Given the description of an element on the screen output the (x, y) to click on. 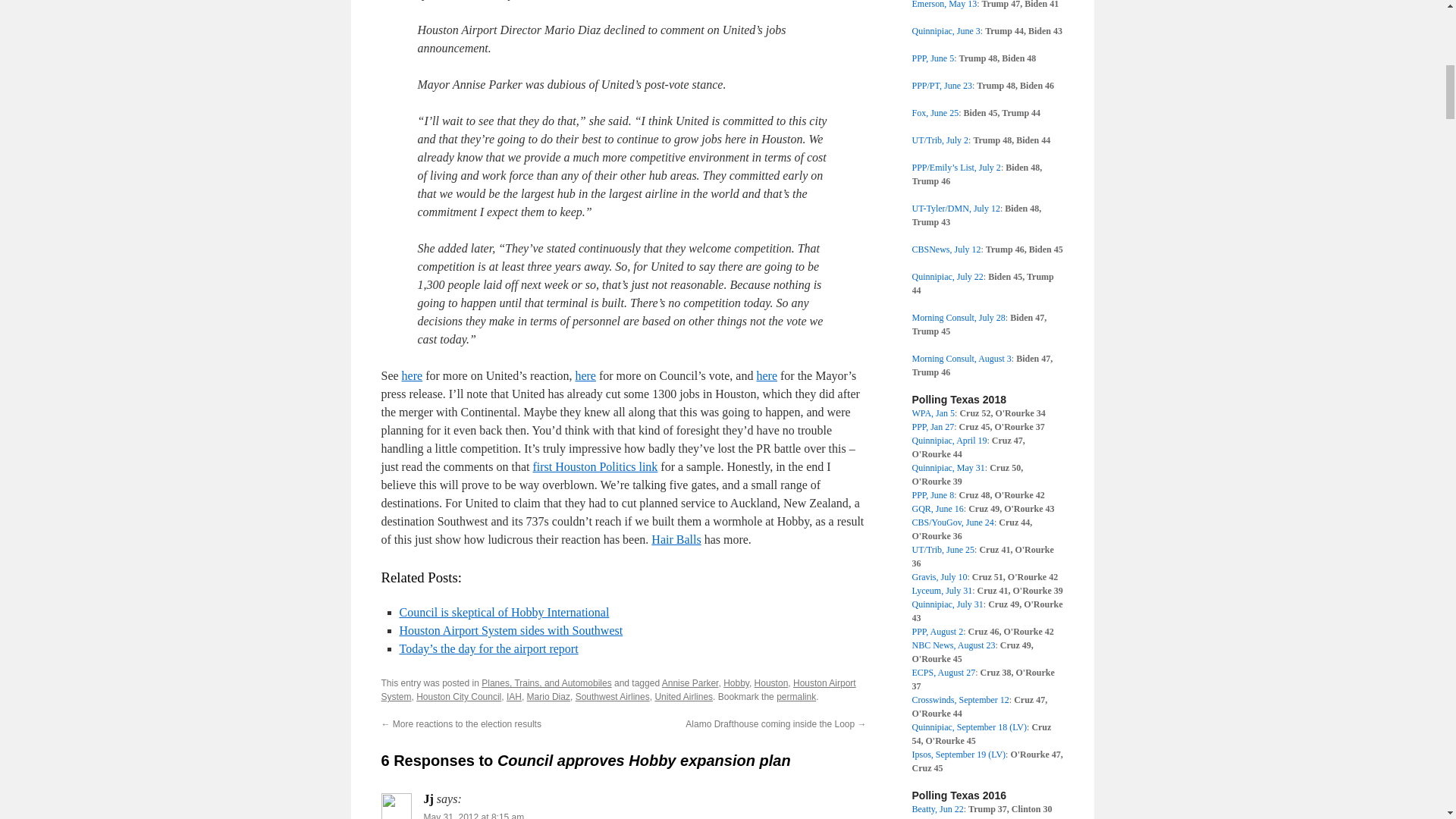
Hair Balls (675, 539)
first Houston Politics link (595, 466)
here (766, 375)
Permalink to Council approves Hobby expansion plan (795, 696)
Houston City Council (458, 696)
Hobby (736, 683)
Houston Airport System (618, 689)
Planes, Trains, and Automobiles (546, 683)
Houston Airport System sides with Southwest (510, 630)
Houston Airport System sides with Southwest (510, 630)
permalink (795, 696)
Annise Parker (690, 683)
May 31, 2012 at 8:15 am (473, 815)
Southwest Airlines (612, 696)
IAH (513, 696)
